Given the description of an element on the screen output the (x, y) to click on. 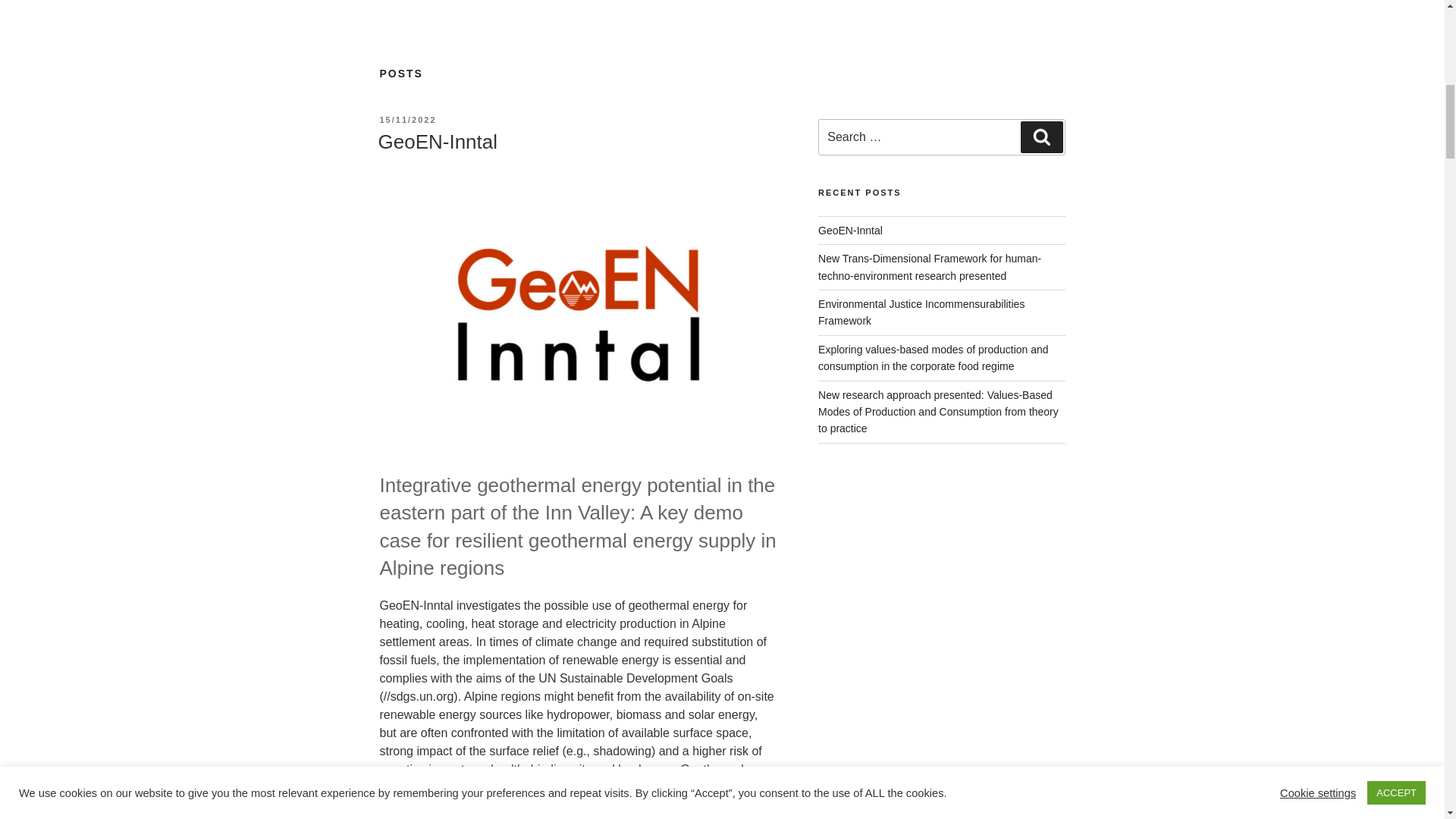
GeoEN-Inntal (437, 141)
